Given the description of an element on the screen output the (x, y) to click on. 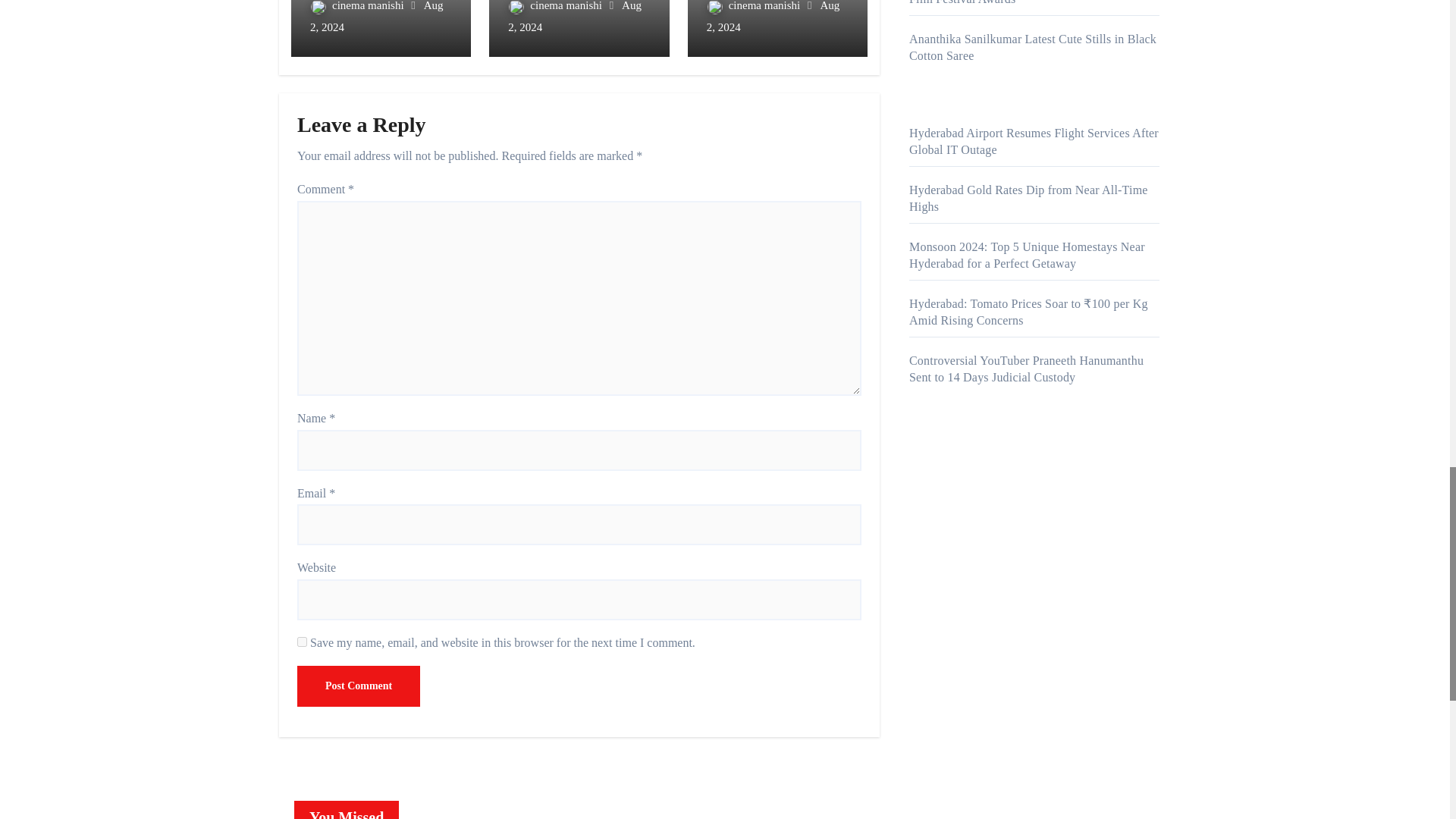
yes (302, 642)
Post Comment (358, 685)
